Given the description of an element on the screen output the (x, y) to click on. 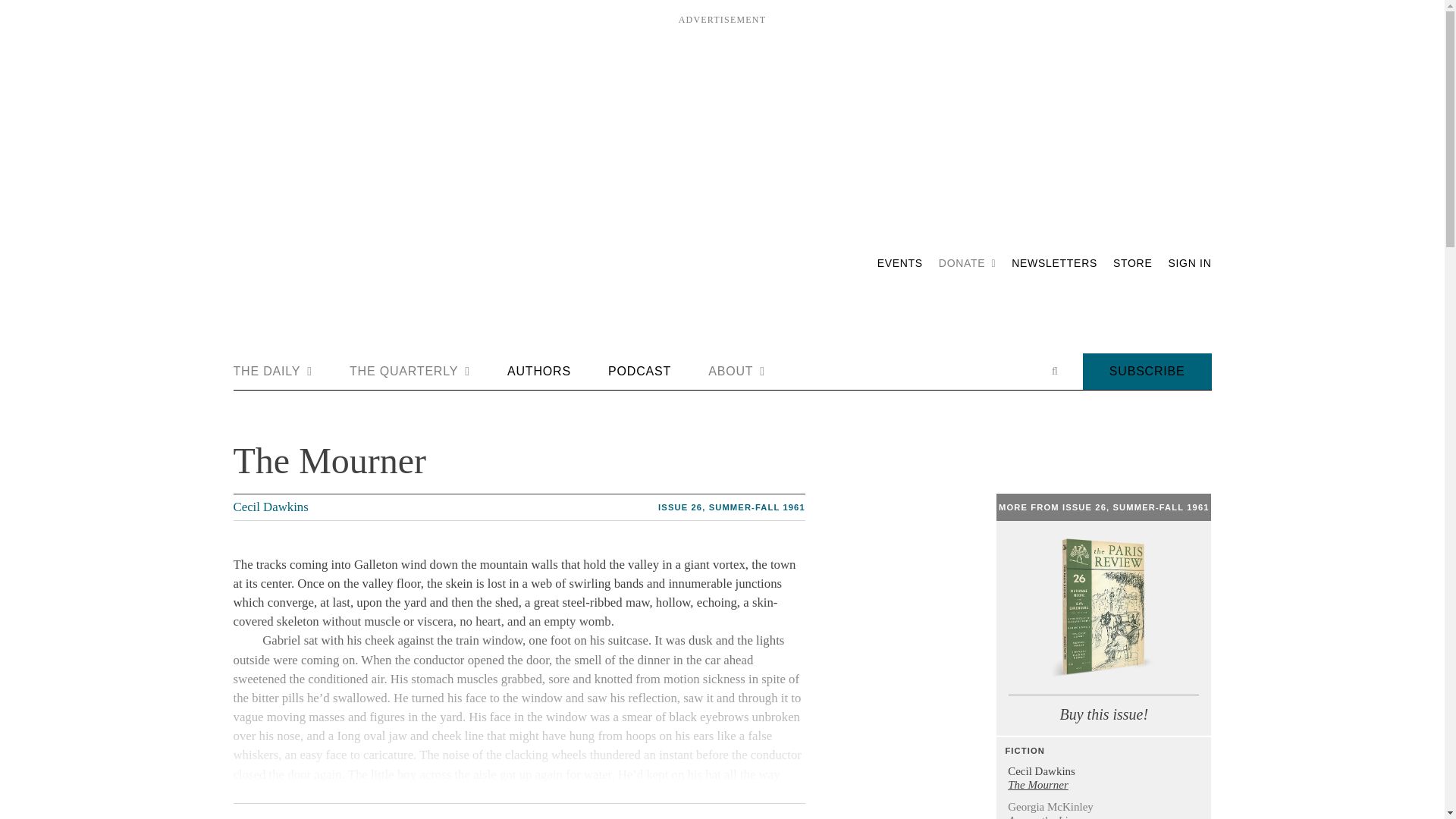
THE QUARTERLY (409, 371)
Open search (1054, 371)
THE DAILY (272, 371)
